Given the description of an element on the screen output the (x, y) to click on. 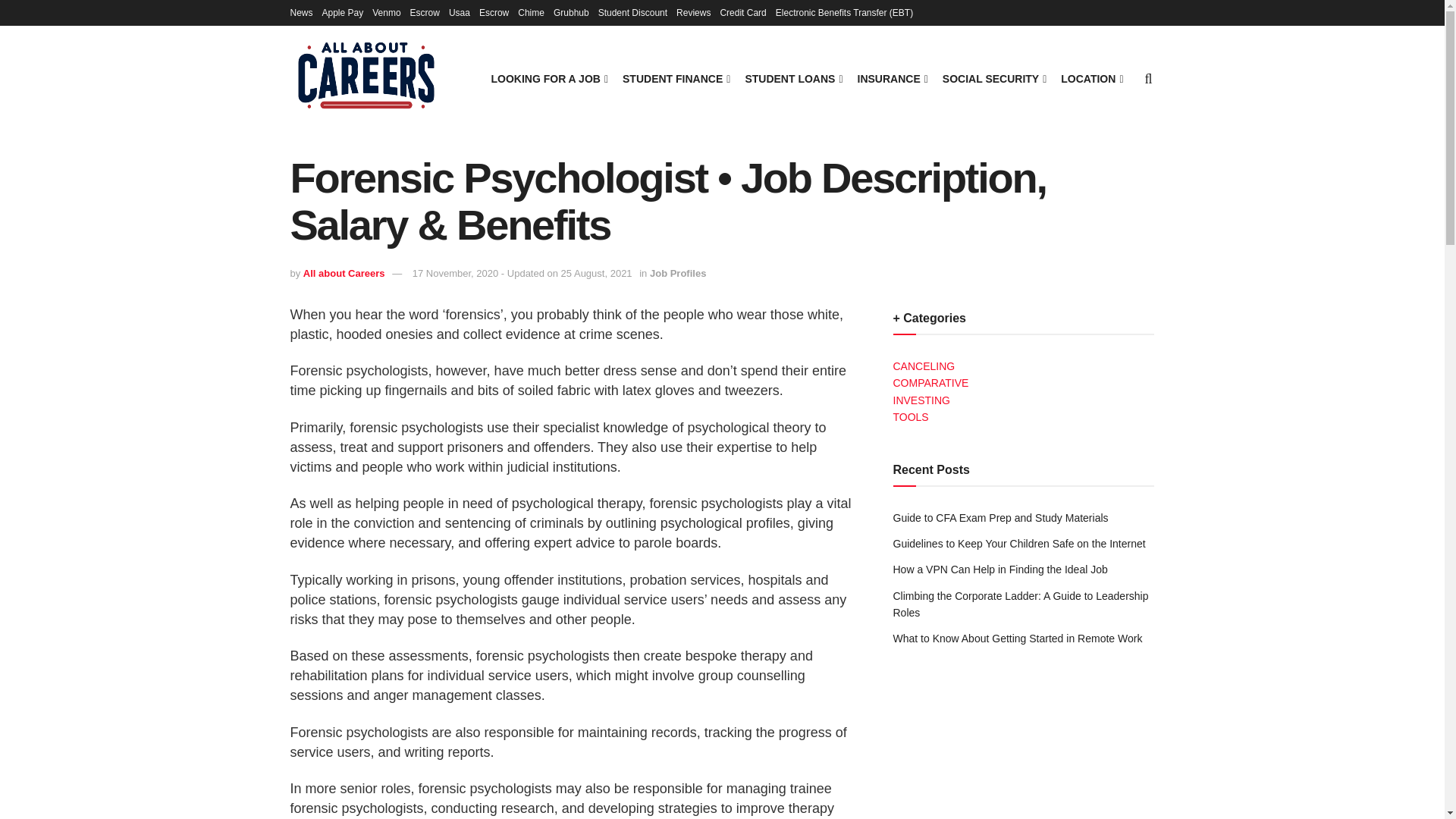
Reviews (693, 12)
Venmo (386, 12)
Grubhub (571, 12)
Escrow (493, 12)
Apple Pay (342, 12)
Credit Card (742, 12)
Escrow (424, 12)
STUDENT FINANCE (675, 78)
LOOKING FOR A JOB (547, 78)
Chime (531, 12)
